Given the description of an element on the screen output the (x, y) to click on. 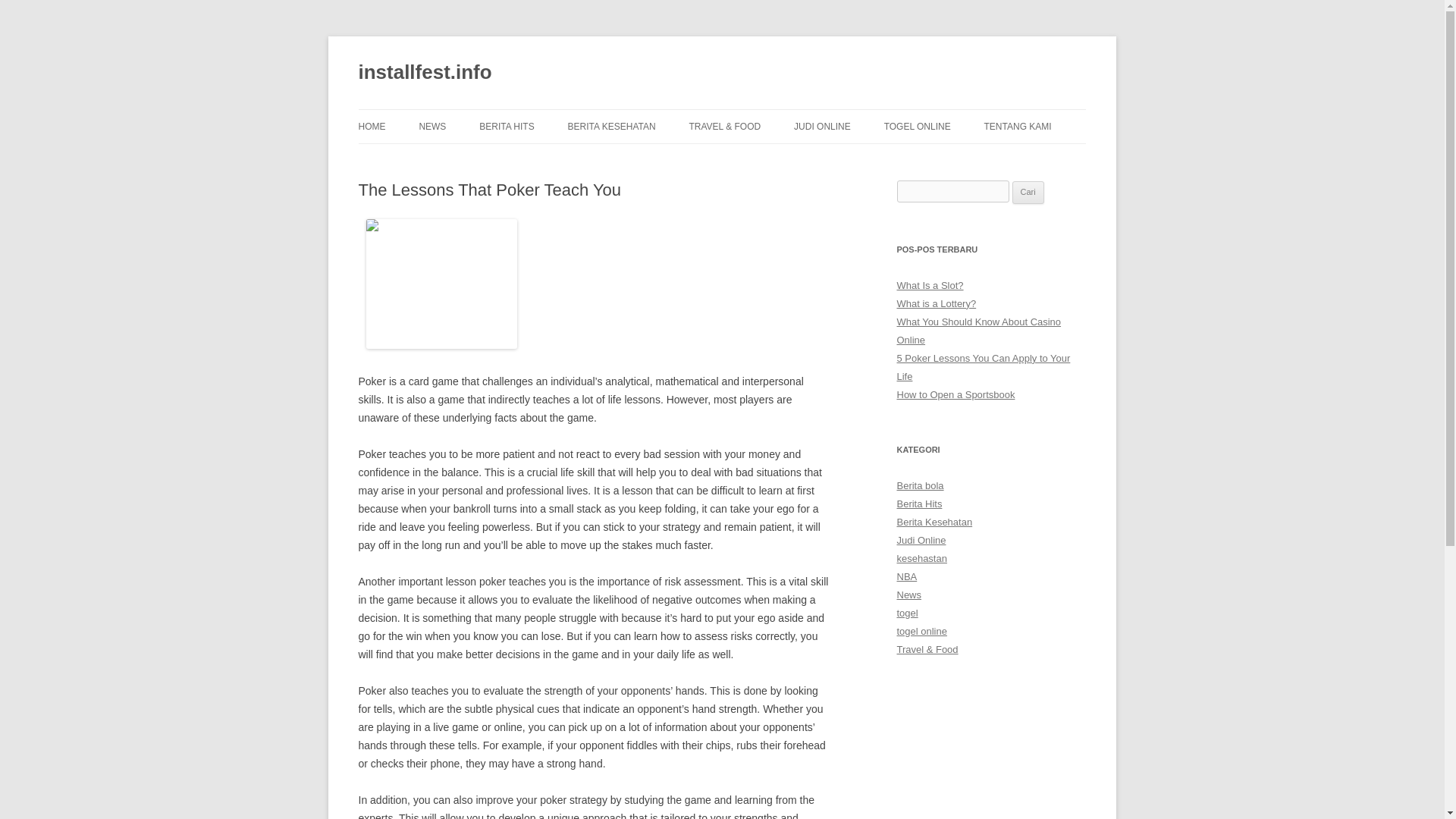
How to Open a Sportsbook (955, 394)
kesehastan (921, 558)
TENTANG KAMI (1017, 126)
BERITA HITS (506, 126)
What Is a Slot? (929, 285)
What is a Lottery? (935, 303)
Cari (1027, 191)
Cari (1027, 191)
BERITA KESEHATAN (611, 126)
NBA (906, 576)
togel online (921, 631)
Berita Hits (919, 503)
What You Should Know About Casino Online (978, 330)
JUDI ONLINE (821, 126)
